Given the description of an element on the screen output the (x, y) to click on. 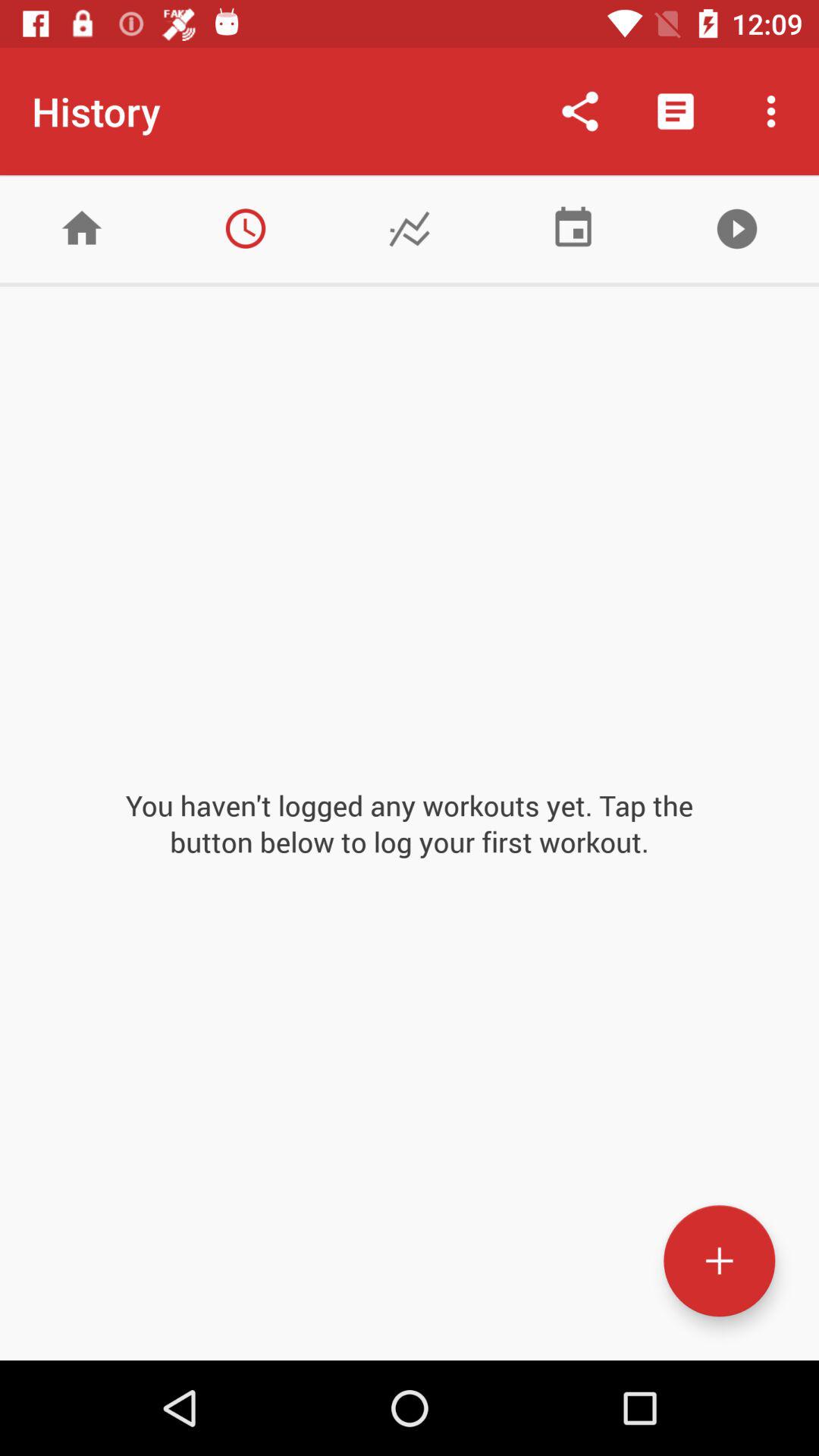
time based report (245, 228)
